Given the description of an element on the screen output the (x, y) to click on. 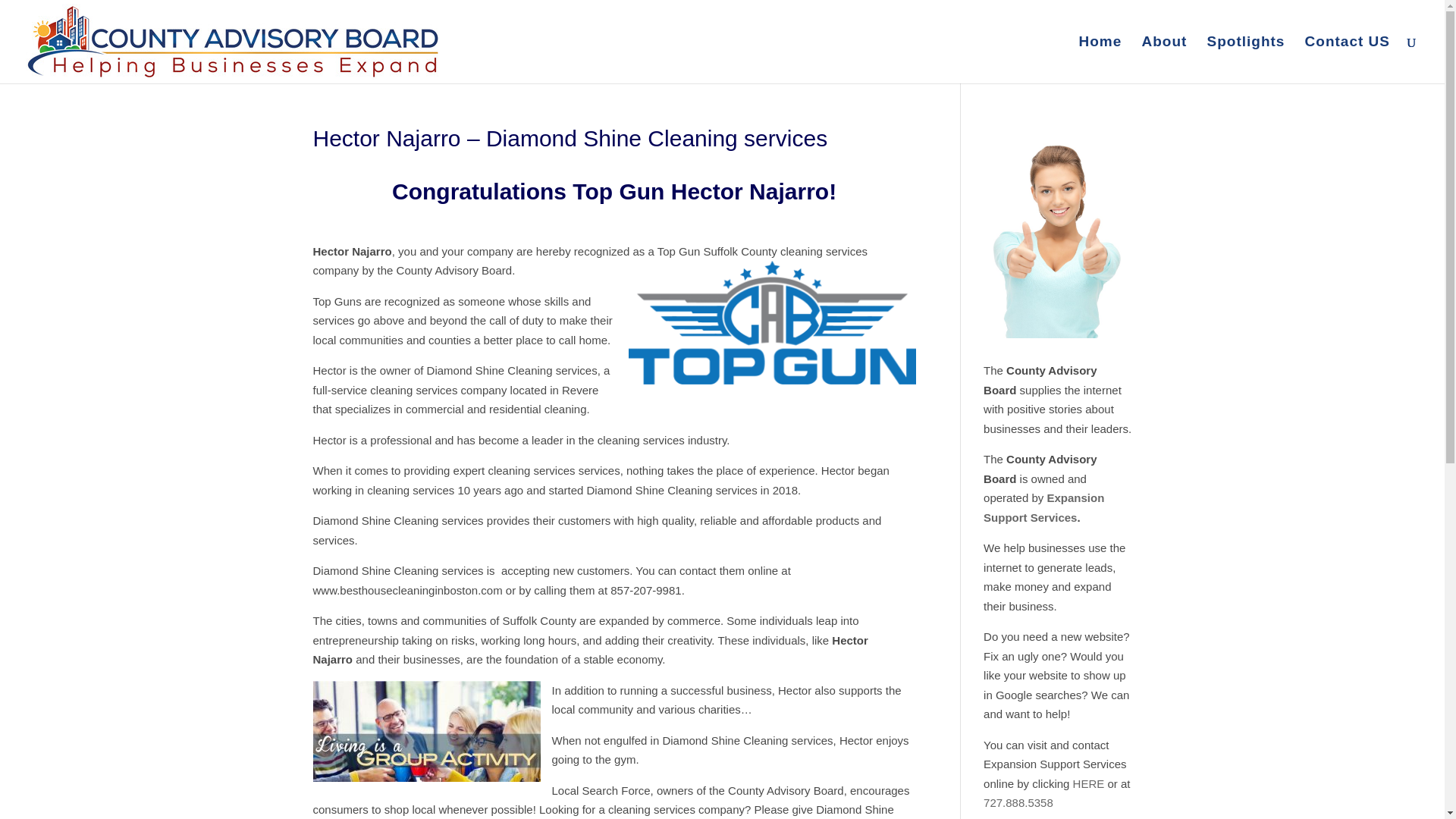
About (1163, 59)
727.888.5358 (1018, 802)
Home (1100, 59)
Expansion Support Services (1043, 507)
HERE (1089, 783)
Spotlights (1246, 59)
Contact US (1347, 59)
